Given the description of an element on the screen output the (x, y) to click on. 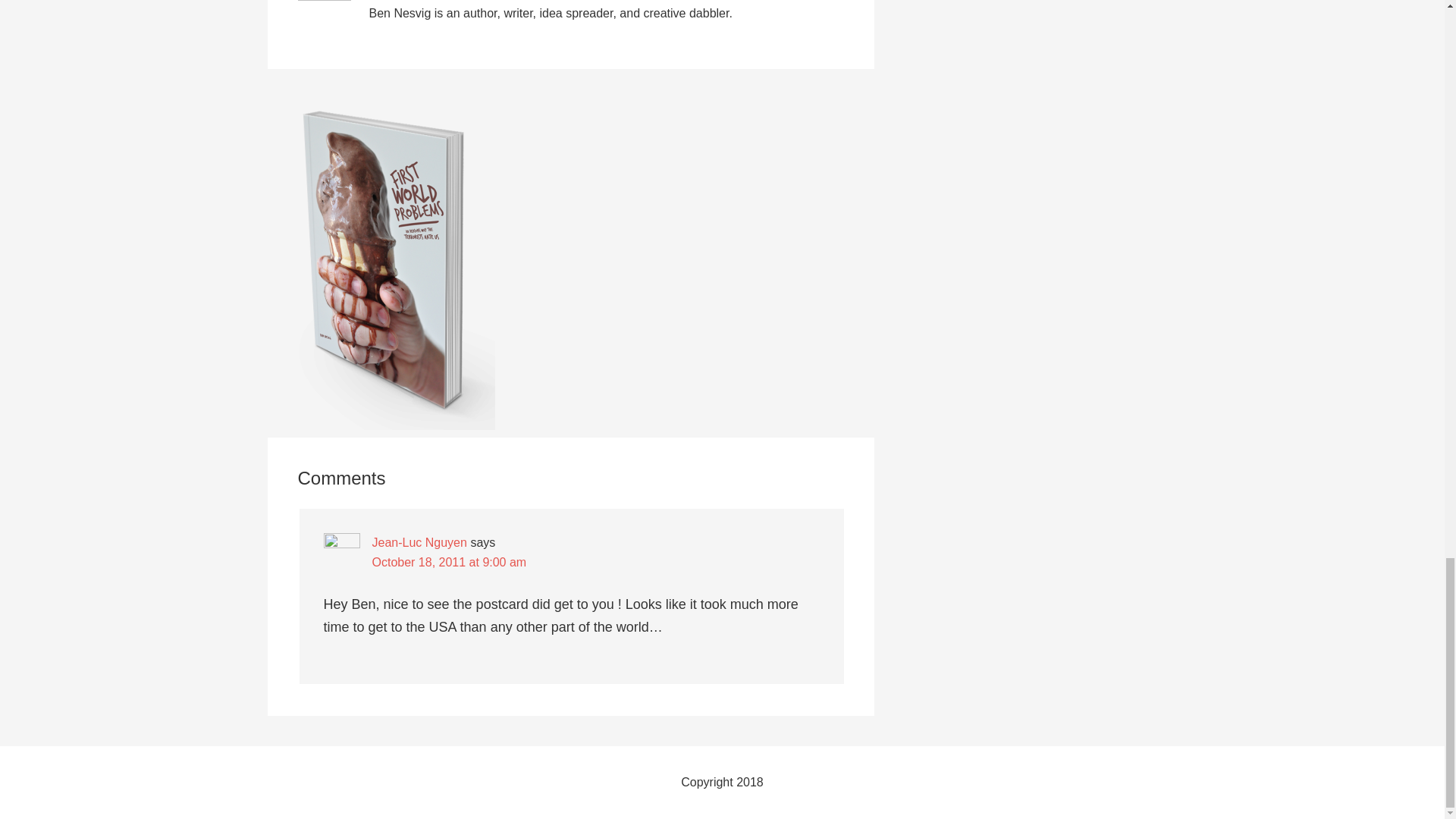
October 18, 2011 at 9:00 am (448, 562)
Jean-Luc Nguyen (418, 542)
